Given the description of an element on the screen output the (x, y) to click on. 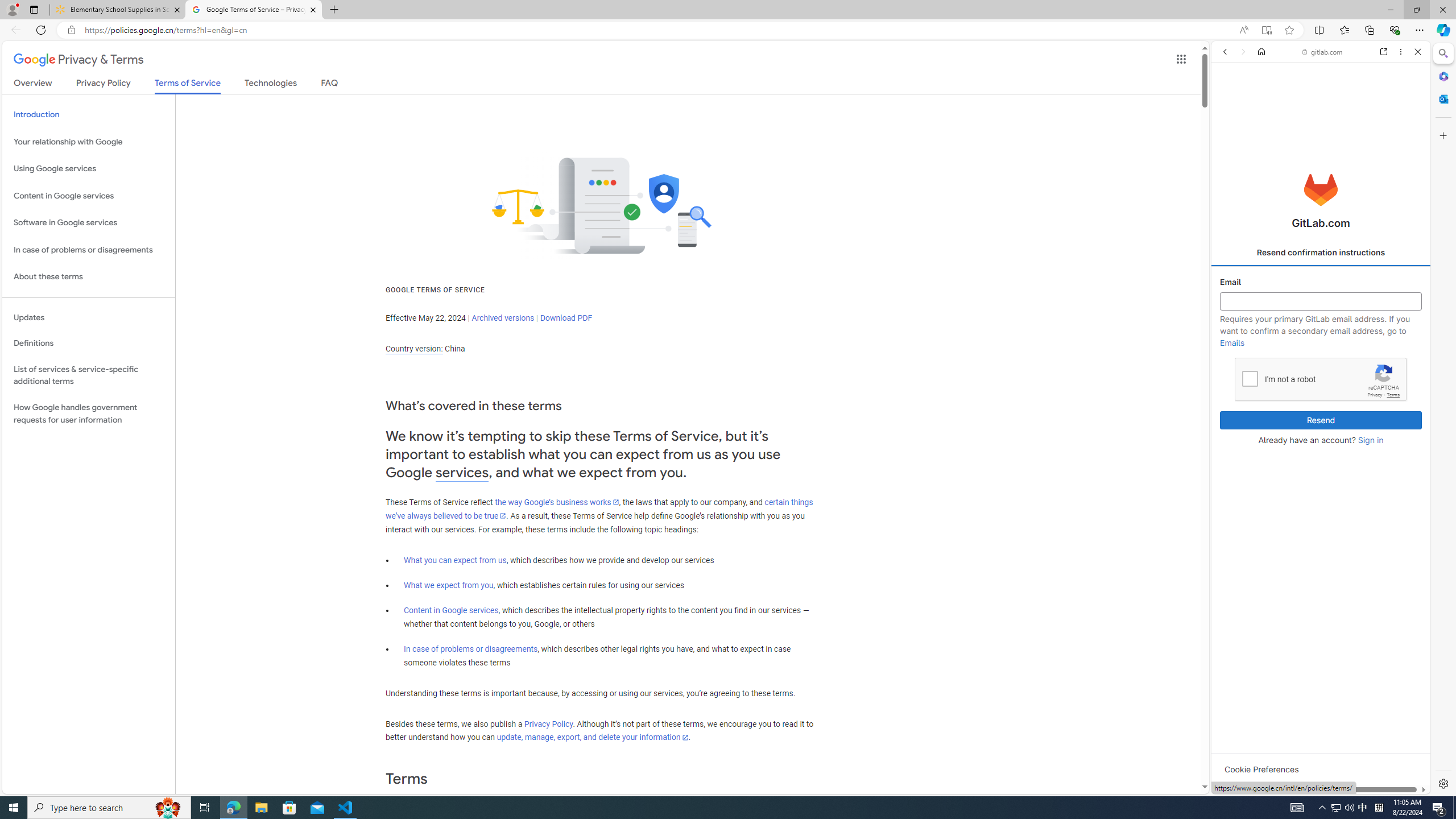
I'm not a robot (1249, 378)
Your relationship with Google (88, 141)
update, manage, export, and delete your information (592, 737)
In case of problems or disagreements (470, 648)
FAQ (328, 84)
List of services & service-specific additional terms (88, 375)
How Google handles government requests for user information (88, 413)
Emails (1232, 342)
Using Google services (88, 168)
